Given the description of an element on the screen output the (x, y) to click on. 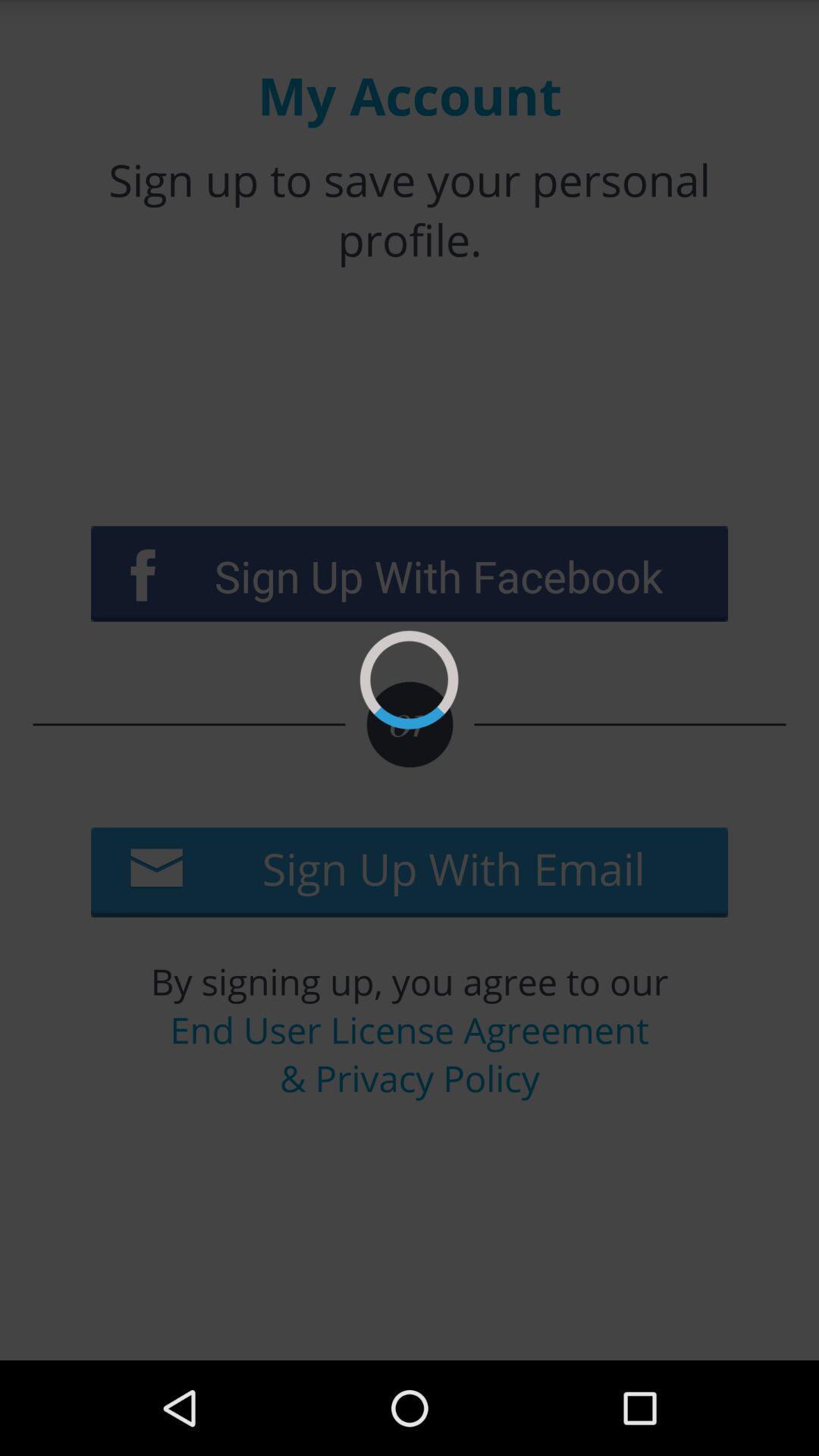
swipe until end user license icon (409, 1053)
